Given the description of an element on the screen output the (x, y) to click on. 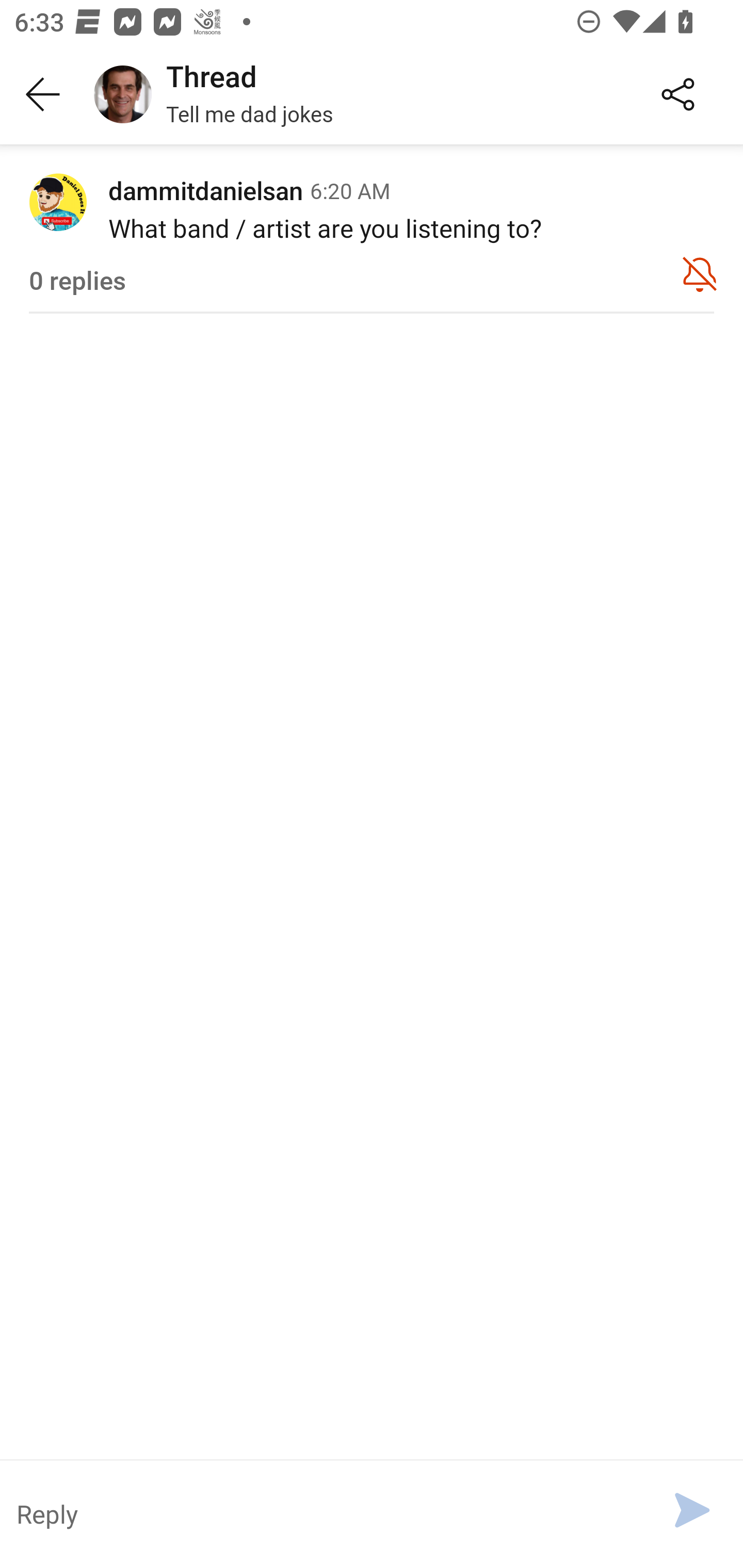
Back (43, 94)
Share (677, 94)
Unmute (699, 273)
Send message (692, 1510)
Message Reply (324, 1513)
